Given the description of an element on the screen output the (x, y) to click on. 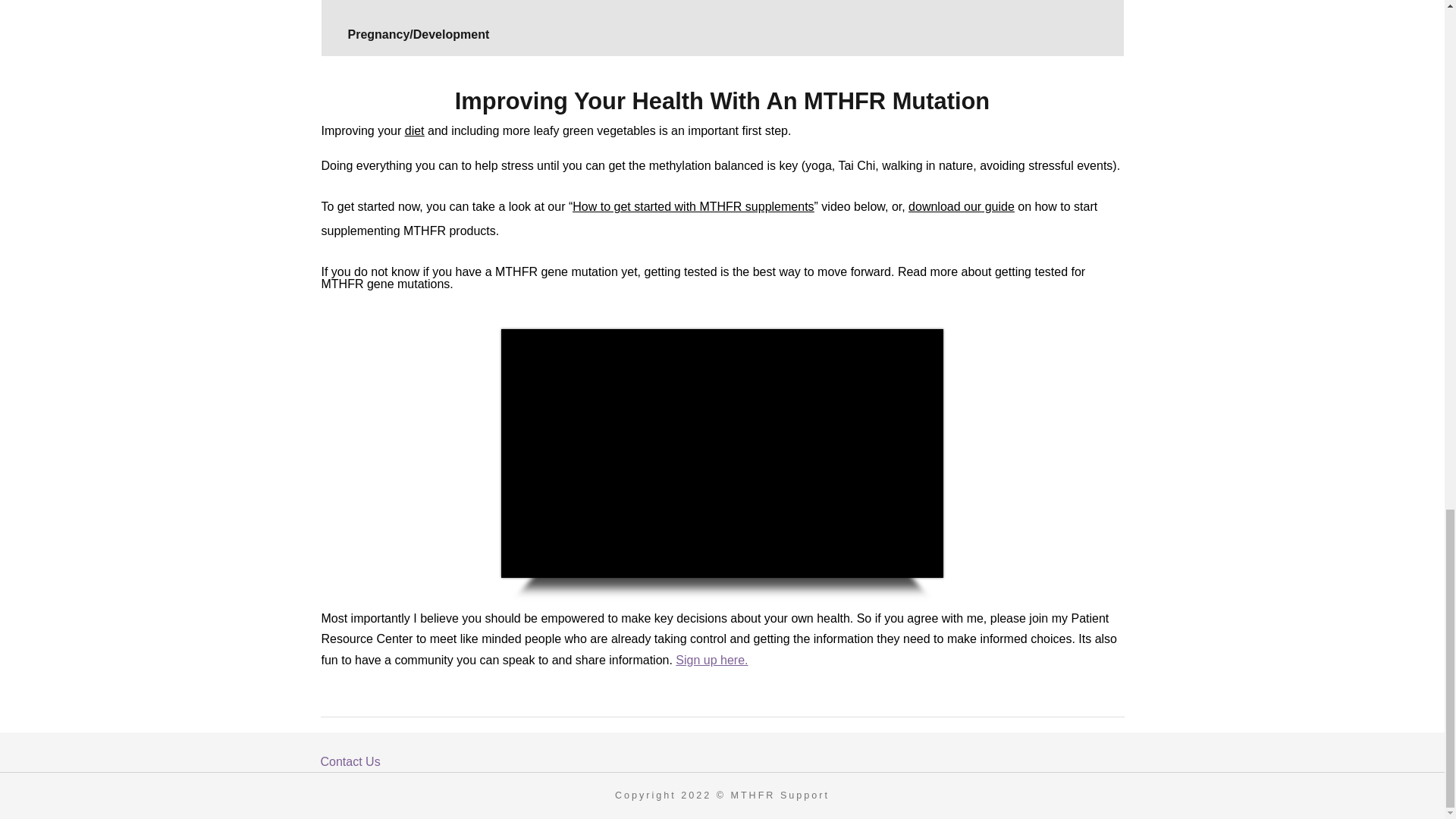
How to get started with MTHFR supplements (692, 205)
download our guide (961, 205)
diet (414, 130)
Sign up here. (711, 659)
